Given the description of an element on the screen output the (x, y) to click on. 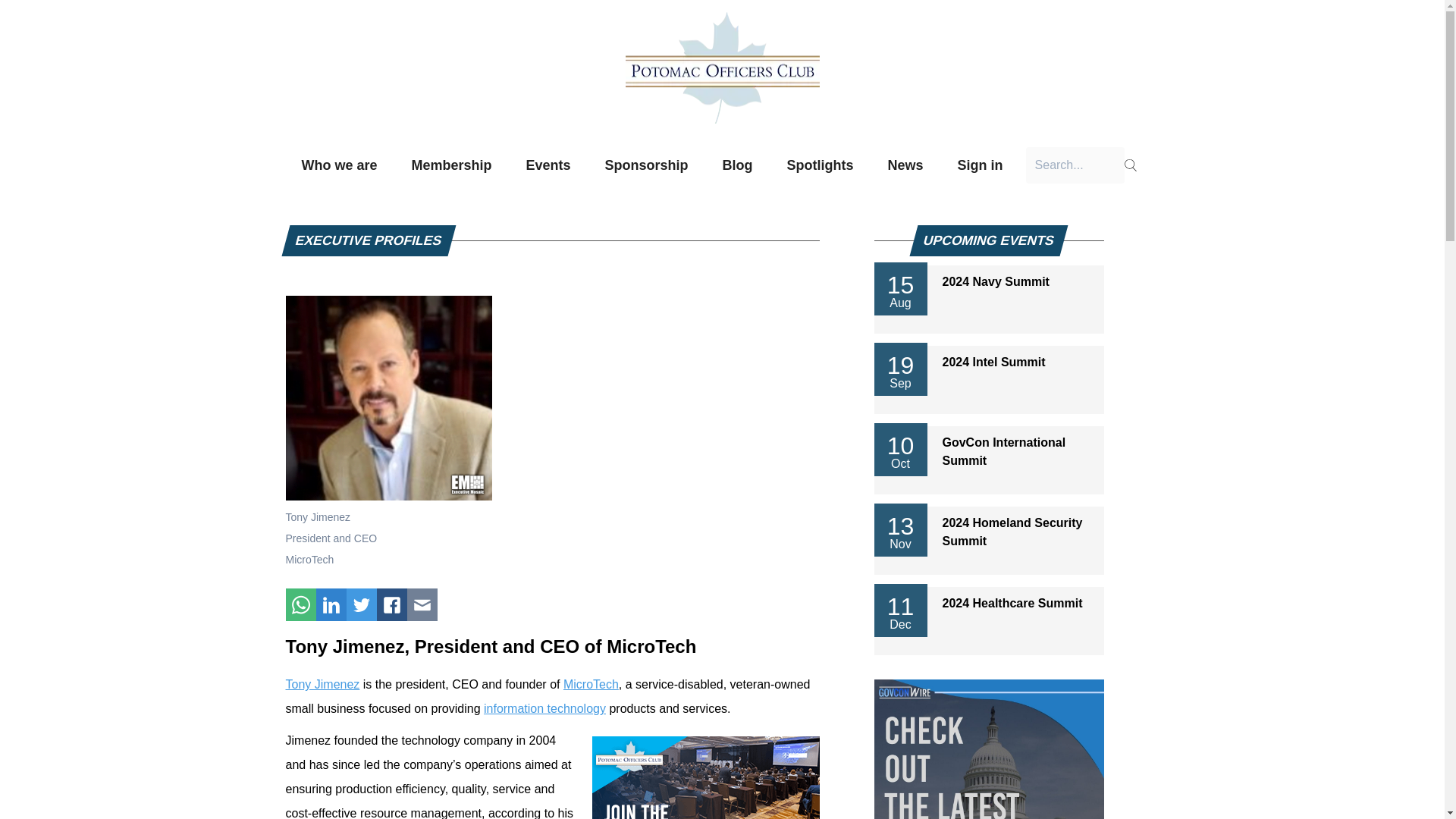
Tony Jimenez (322, 684)
Sign in (980, 164)
information technology (544, 707)
MicroTech (590, 684)
News (905, 164)
Blog (737, 164)
Membership (450, 164)
Sponsorship (647, 164)
Events (546, 164)
Spotlights (820, 164)
Who we are (338, 164)
